Given the description of an element on the screen output the (x, y) to click on. 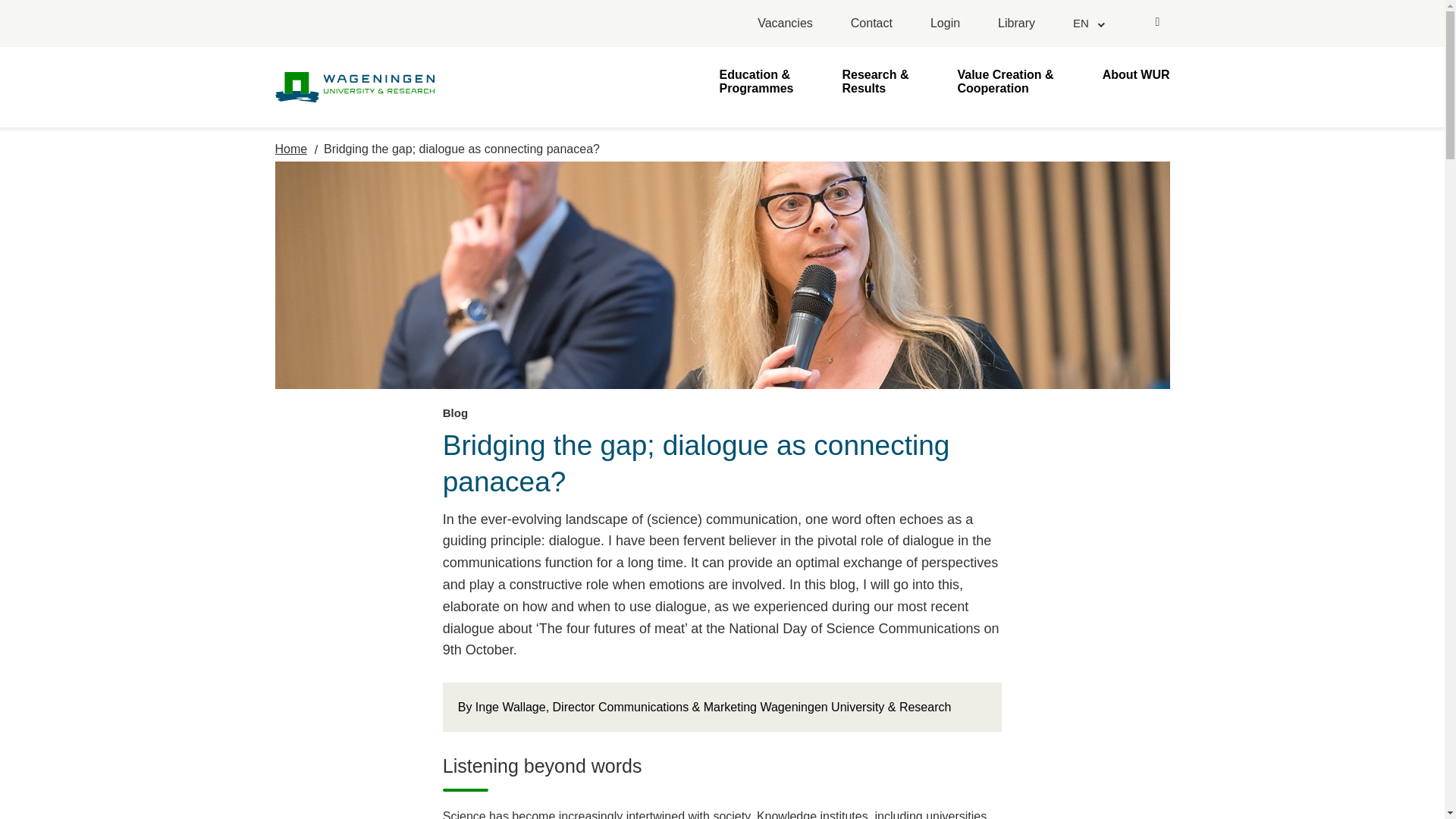
Library (1016, 23)
Vacancies (784, 23)
Contact (870, 23)
Login (944, 23)
Vacancies (784, 23)
Contact (870, 23)
Home (291, 149)
EN (1086, 23)
Library (1016, 23)
Login (944, 23)
